Given the description of an element on the screen output the (x, y) to click on. 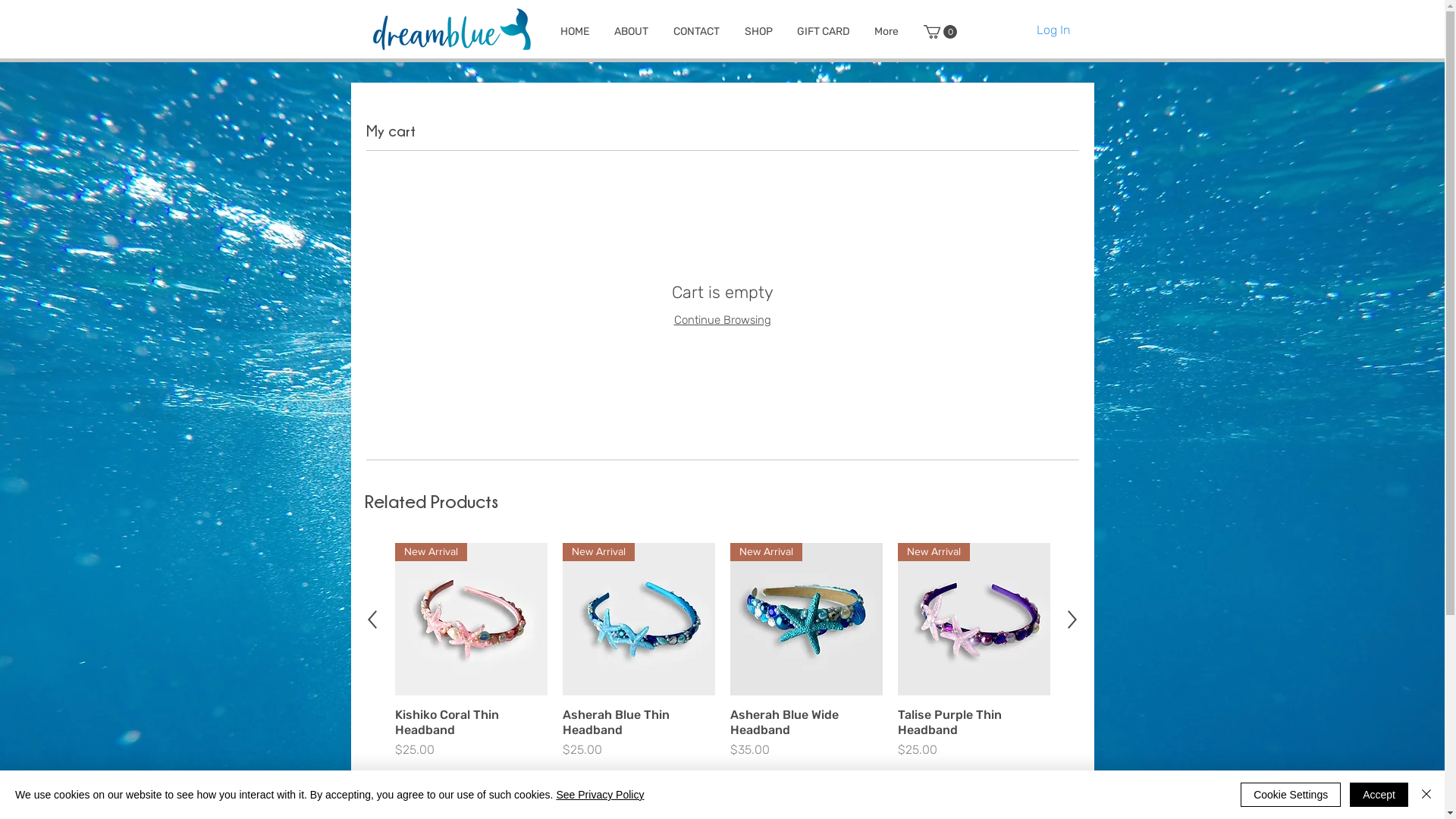
New Arrival Element type: text (470, 618)
Cookie Settings Element type: text (1290, 794)
SHOP Element type: text (758, 31)
Kishiko Coral Thin Headband
Price
$25.00 Element type: text (470, 733)
New Arrival Element type: text (973, 618)
Talise Purple Thin Headband
Price
$25.00 Element type: text (973, 733)
Asherah Blue Thin Headband
Price
$25.00 Element type: text (638, 733)
Continue Browsing Element type: text (721, 319)
HOME Element type: text (574, 31)
GIFT CARD Element type: text (822, 31)
CONTACT Element type: text (696, 31)
Accept Element type: text (1378, 794)
See Privacy Policy Element type: text (599, 794)
Asherah Blue Wide Headband
Price
$35.00 Element type: text (805, 733)
0 Element type: text (940, 31)
New Arrival Element type: text (638, 618)
Log In Element type: text (1052, 30)
New Arrival Element type: text (805, 618)
